Given the description of an element on the screen output the (x, y) to click on. 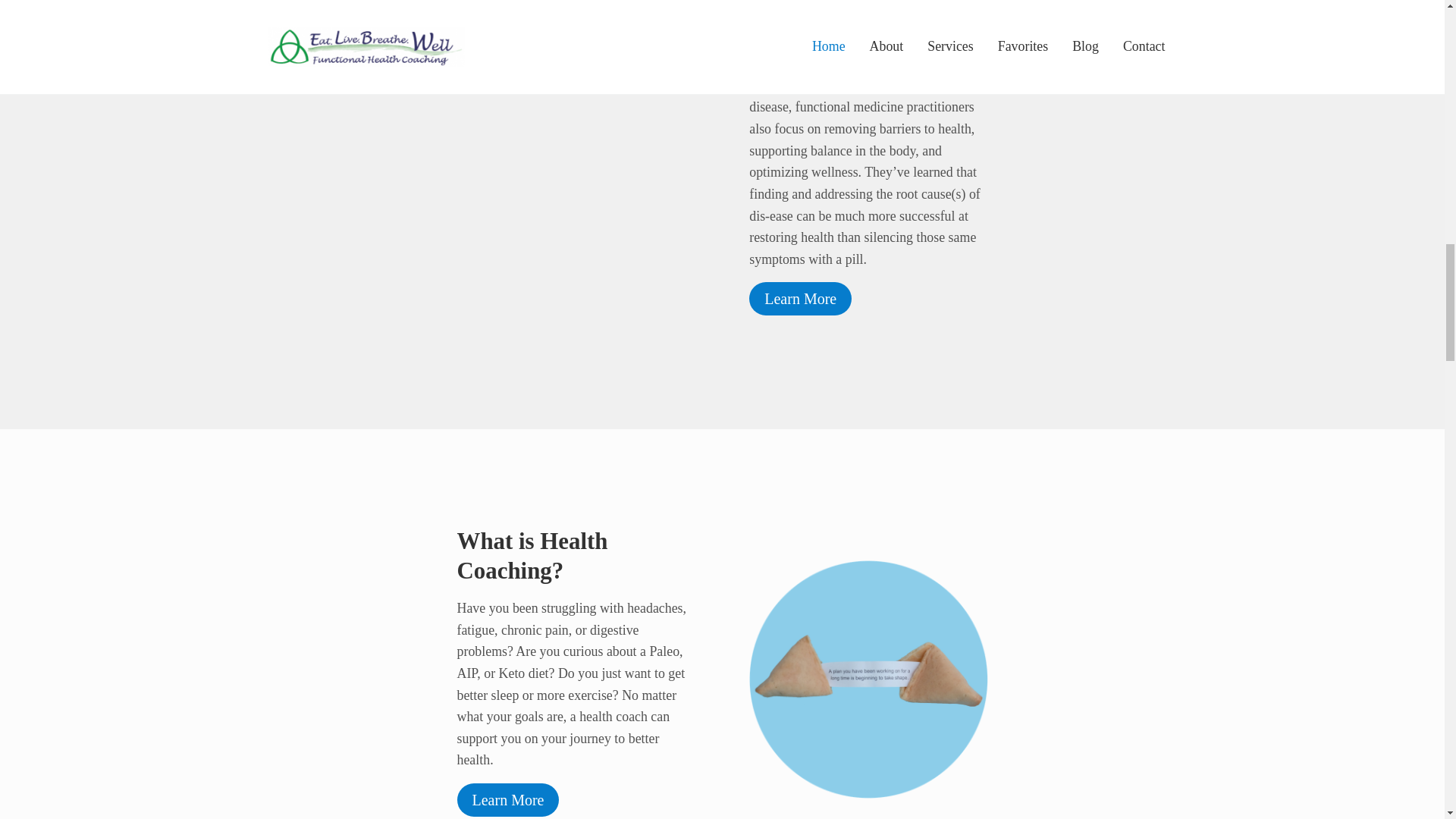
Learn More (800, 298)
Learn More (508, 799)
IFM (900, 51)
